Given the description of an element on the screen output the (x, y) to click on. 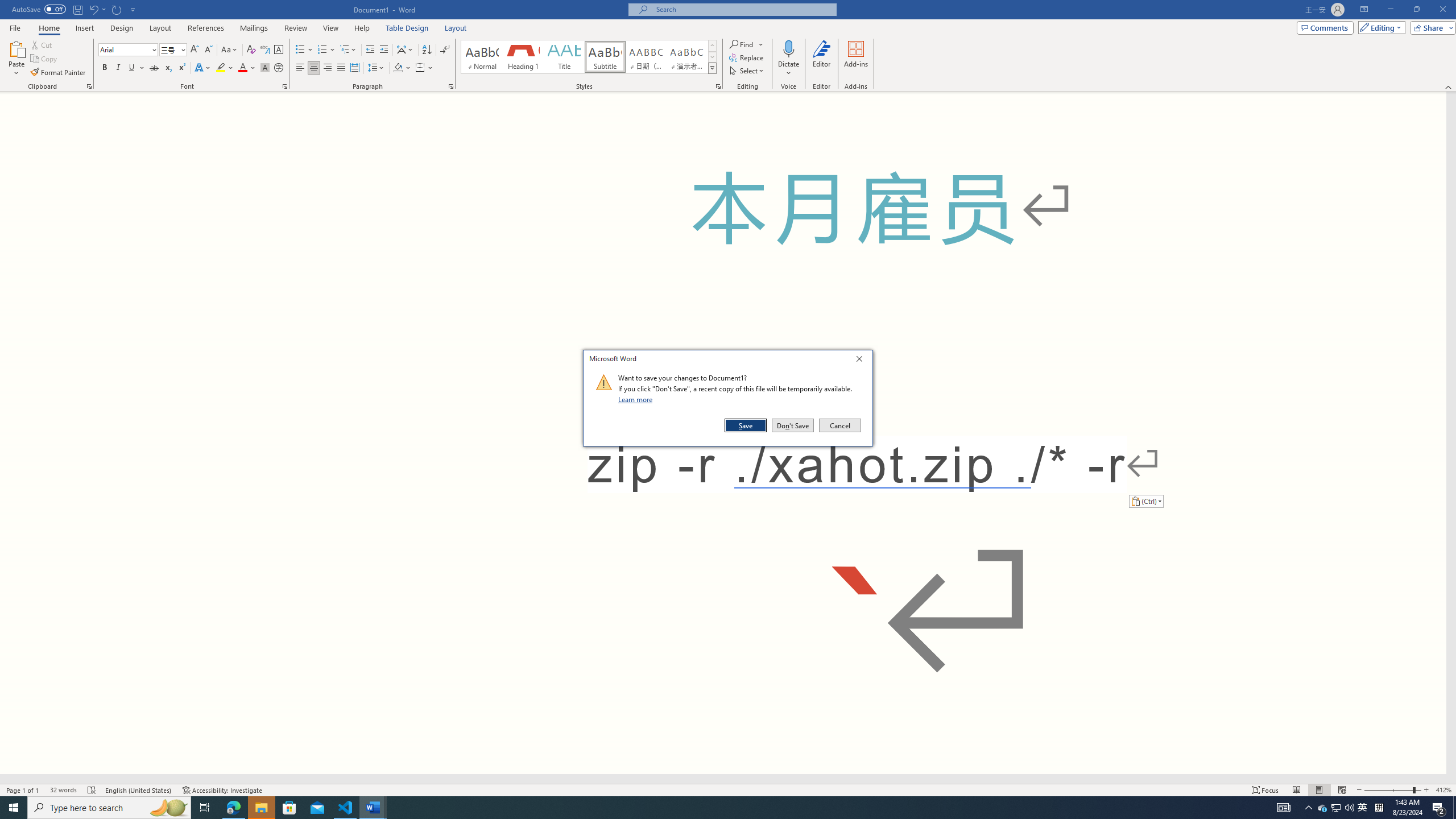
Align Right (327, 67)
Font... (285, 85)
Font Color (246, 67)
Center (313, 67)
Superscript (180, 67)
Learn more (636, 399)
Task View (204, 807)
